Given the description of an element on the screen output the (x, y) to click on. 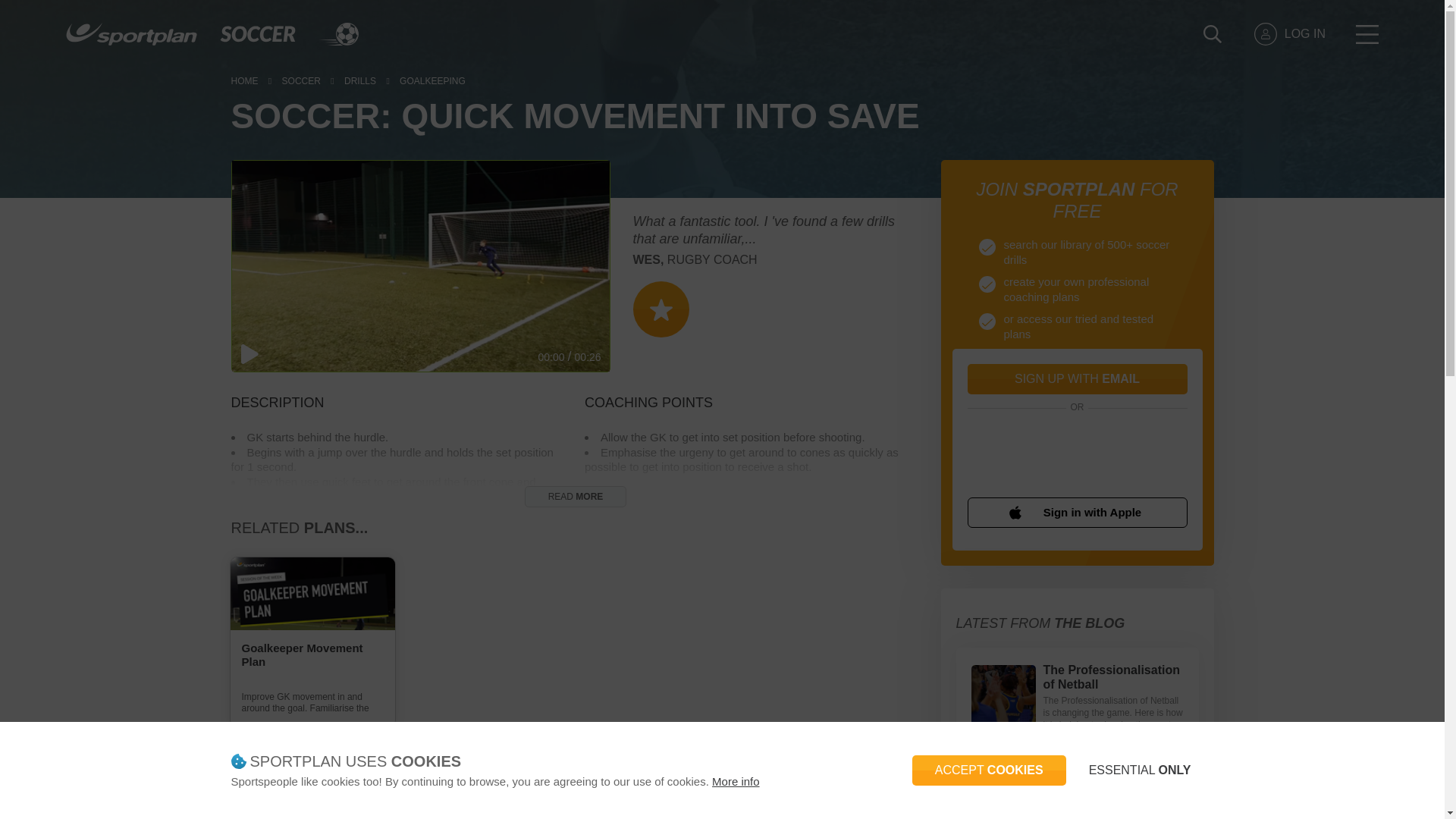
GOALKEEPING (431, 81)
LOG IN (1288, 33)
SOCCER (301, 81)
HOME (243, 81)
SIGN UP WITH EMAIL (1078, 378)
DRILLS (359, 81)
